Given the description of an element on the screen output the (x, y) to click on. 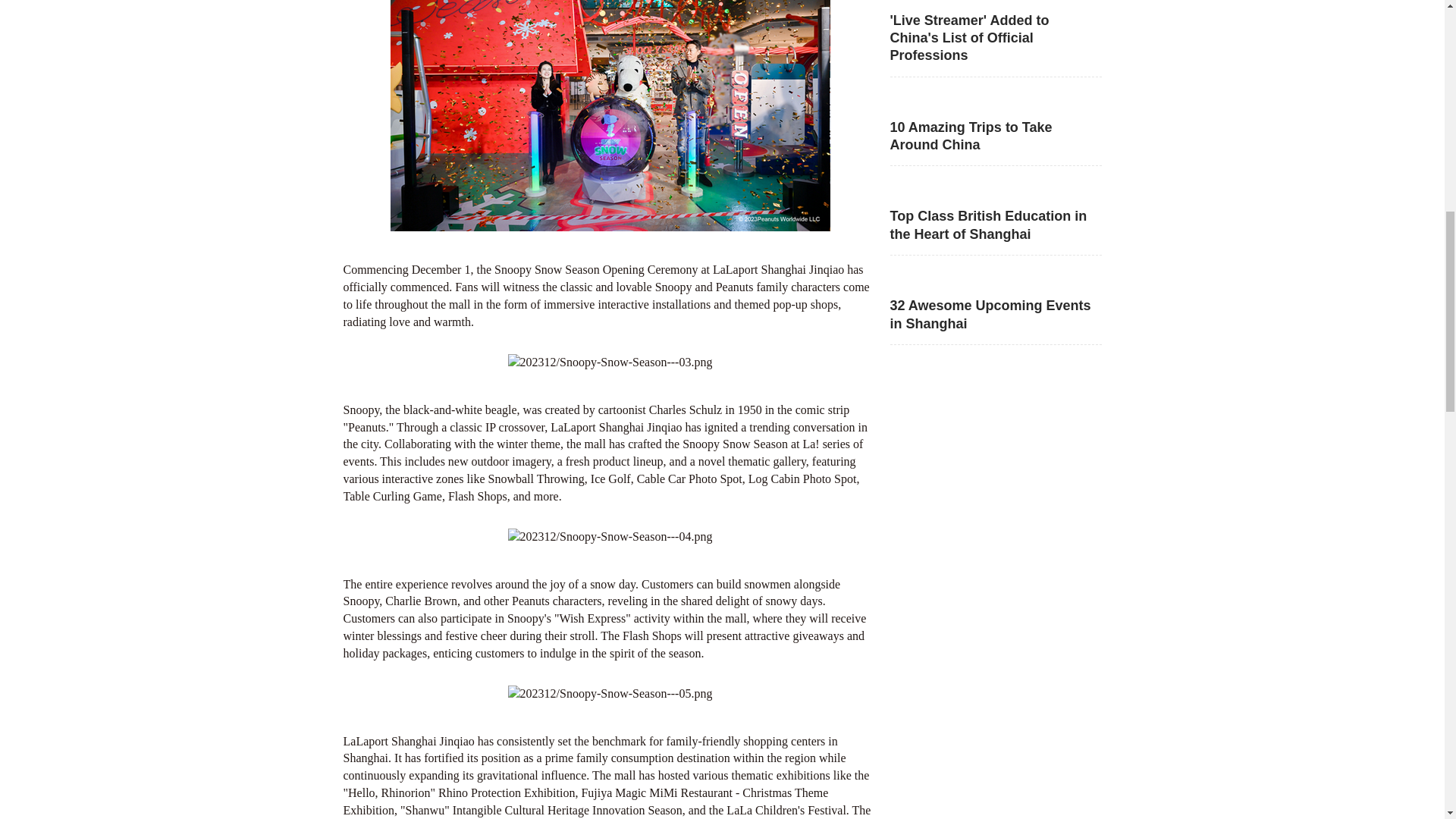
Snoopy-Snow-Season---02.png (609, 115)
Snoopy-Snow-Season---04.png (610, 537)
Snoopy-Snow-Season---05.png (610, 693)
Snoopy-Snow-Season---03.png (610, 362)
